Given the description of an element on the screen output the (x, y) to click on. 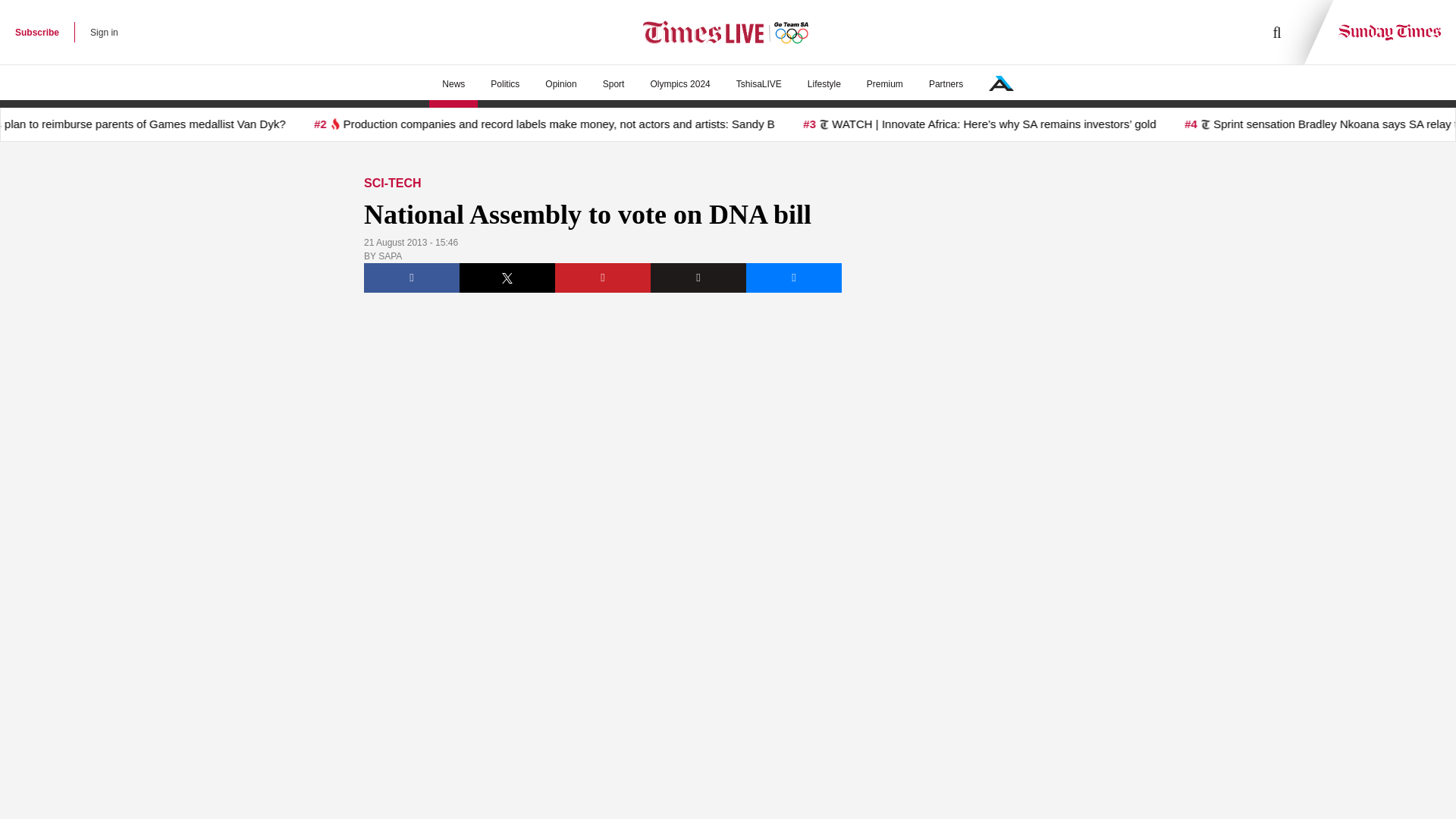
Sport (613, 84)
Subscribe (36, 32)
Lifestyle (823, 84)
Sign in (103, 32)
Our Network (1000, 83)
News (453, 84)
TshisaLIVE (758, 84)
Partners (945, 84)
Olympics 2024 (679, 84)
Opinion (560, 84)
